Given the description of an element on the screen output the (x, y) to click on. 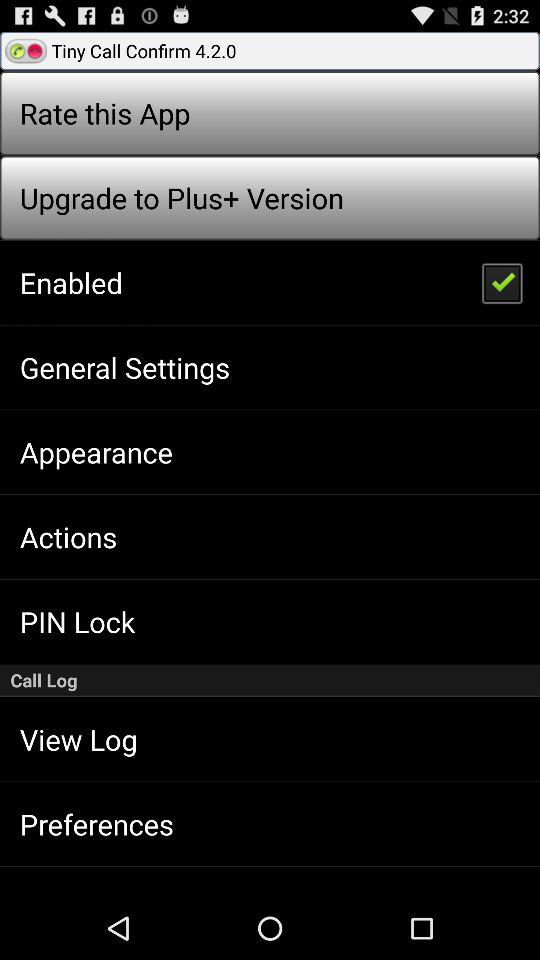
jump to enabled item (70, 282)
